Given the description of an element on the screen output the (x, y) to click on. 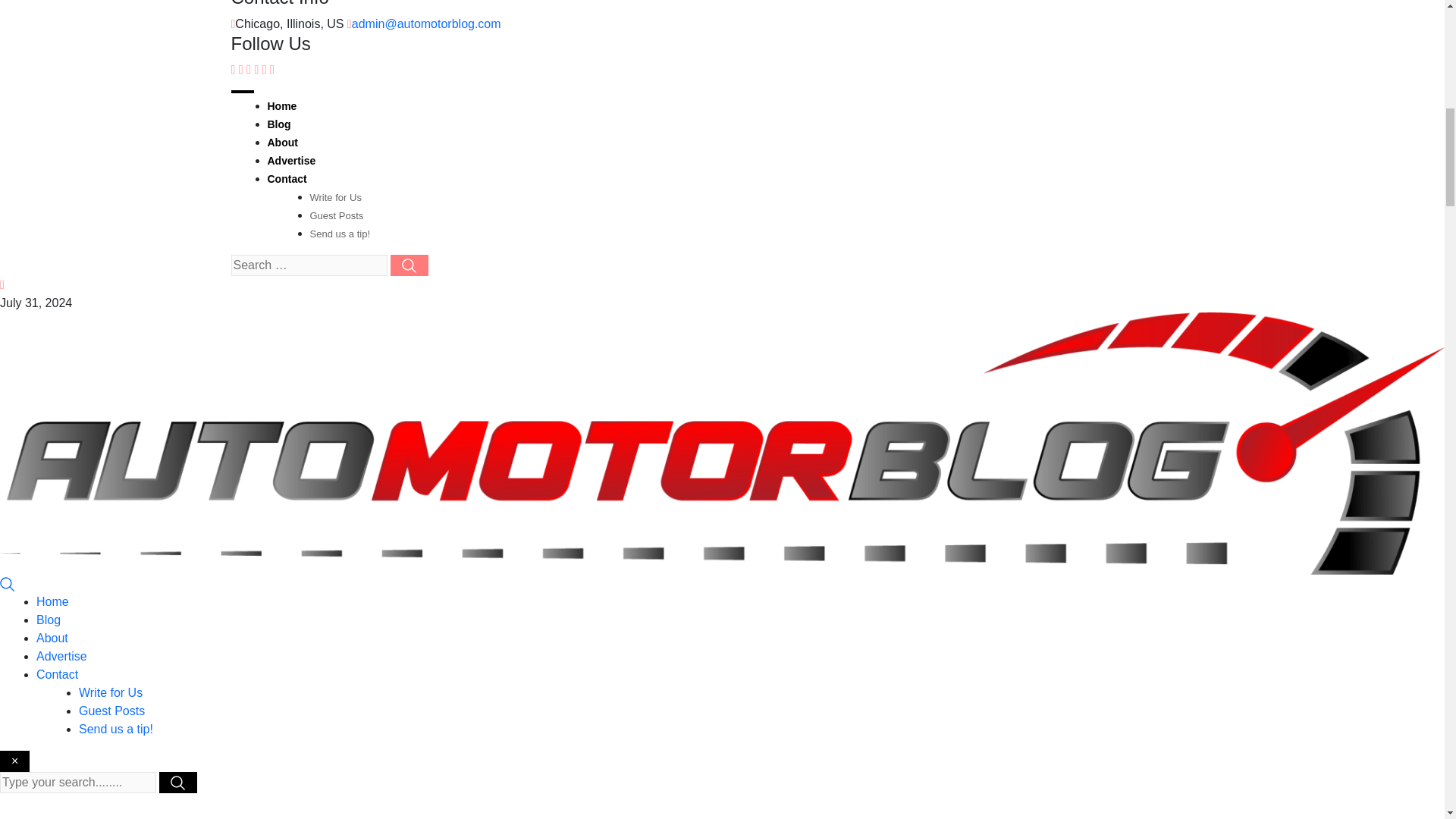
Send us a tip! (338, 233)
Home (52, 601)
About (281, 142)
About (52, 637)
Contact (285, 178)
Advertise (61, 656)
Guest Posts (335, 215)
Contact (57, 674)
Write for Us (110, 692)
Write for Us (334, 197)
Search (7, 583)
Blog (277, 123)
Blog (48, 619)
